Given the description of an element on the screen output the (x, y) to click on. 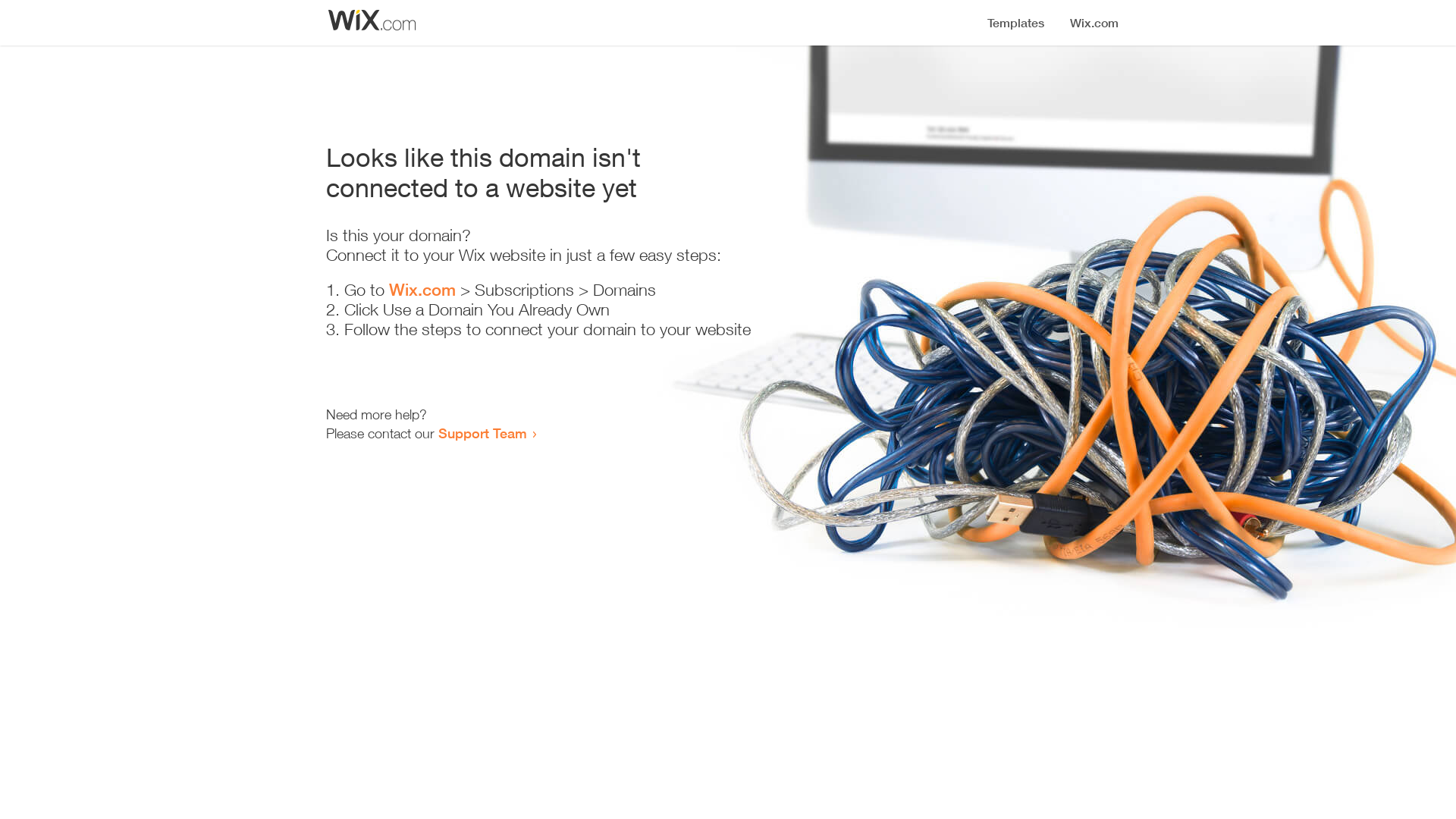
Wix.com Element type: text (422, 289)
Support Team Element type: text (482, 432)
